Given the description of an element on the screen output the (x, y) to click on. 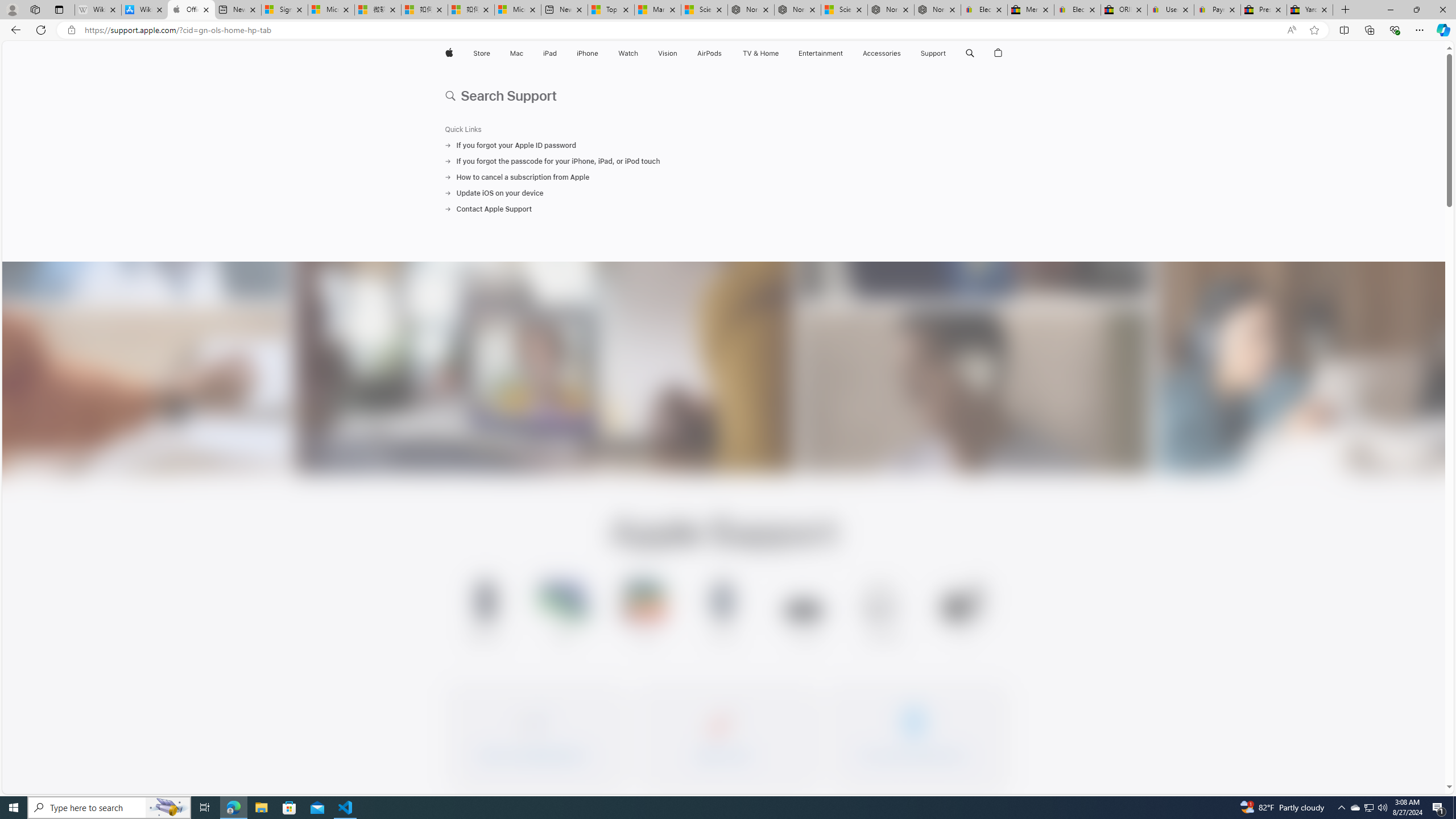
TV and Home (759, 53)
Vision (667, 53)
How to cancel a subscription from Apple (723, 177)
Nordace - FAQ (937, 9)
AirPods (709, 53)
Store menu (492, 53)
Support (932, 53)
